Given the description of an element on the screen output the (x, y) to click on. 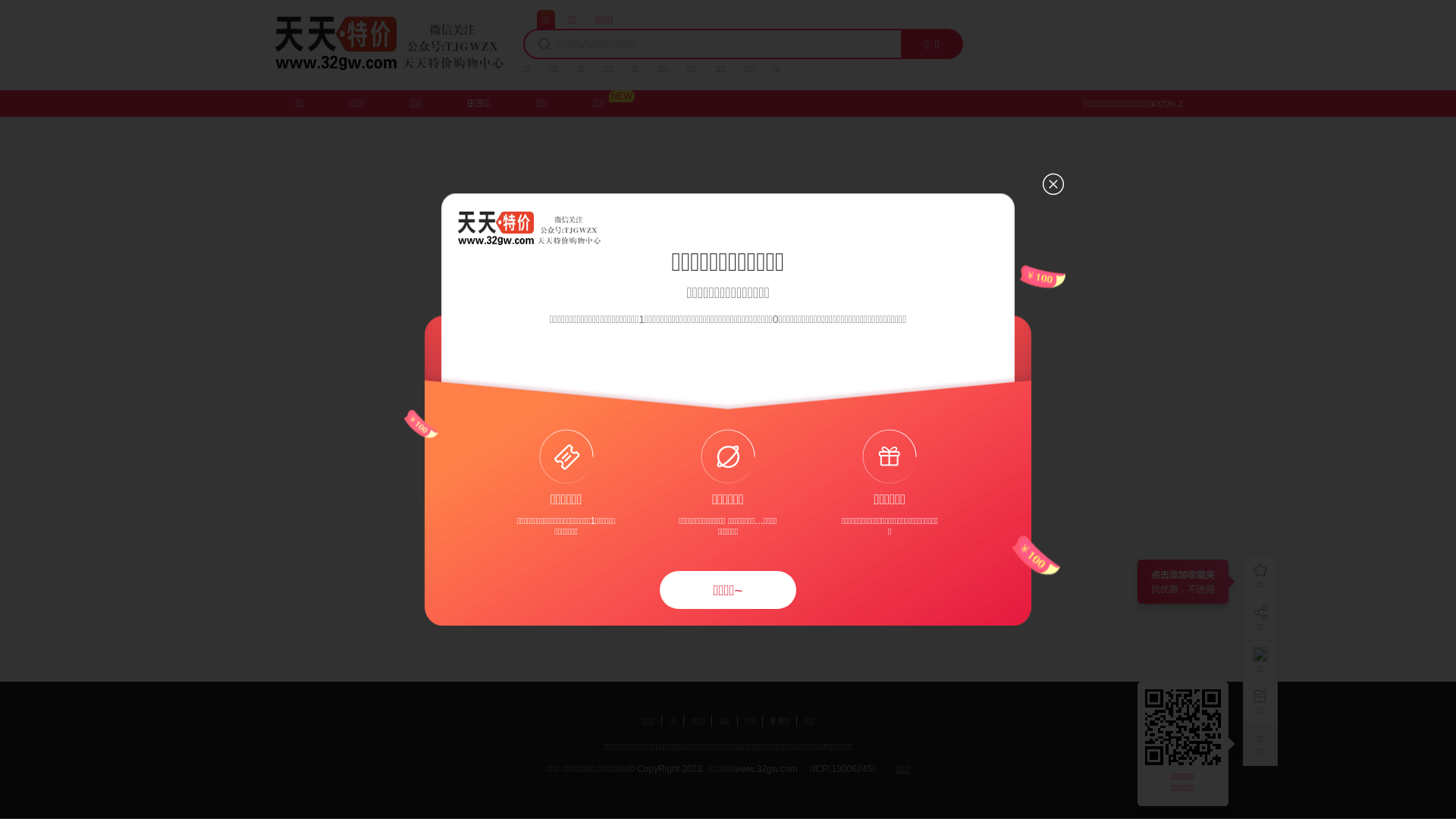
http://www.32gw.com Element type: hover (1185, 727)
